Given the description of an element on the screen output the (x, y) to click on. 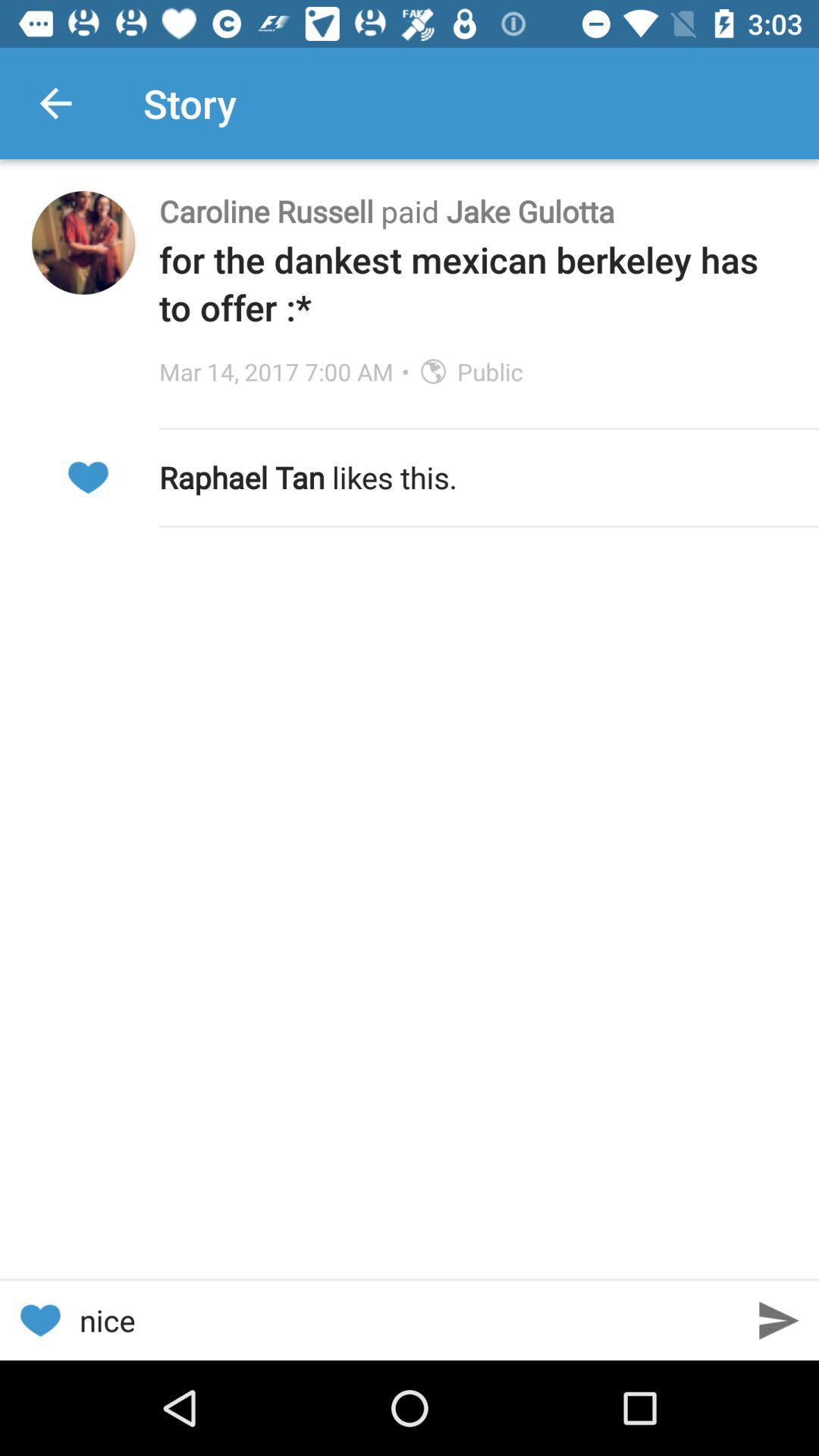
view profile option (83, 242)
